Given the description of an element on the screen output the (x, y) to click on. 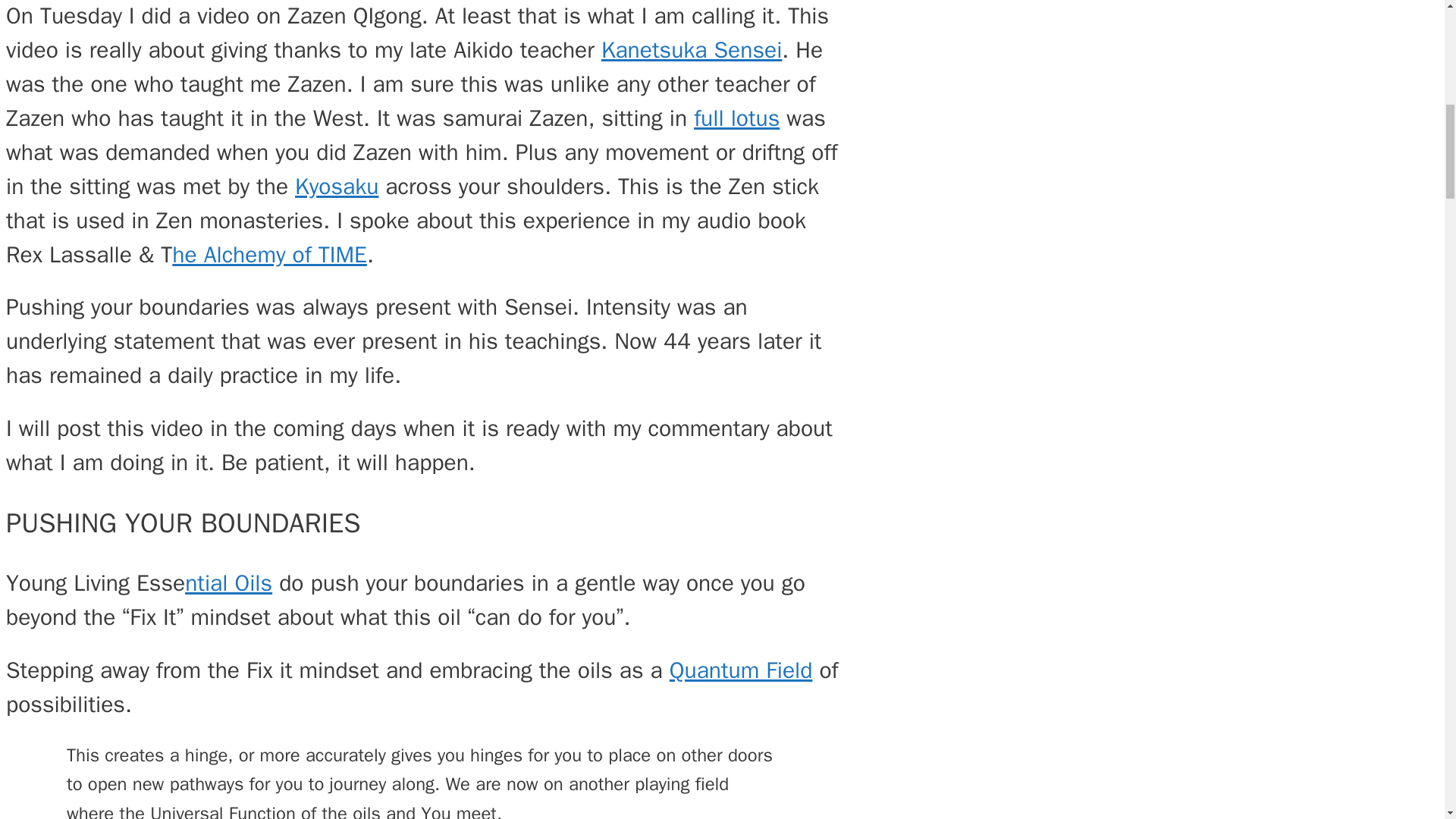
Kyosaku (336, 185)
Kanetsuka Sensei (691, 50)
ntial Oils (228, 582)
Quantum Field (740, 670)
he Alchemy of TIME (268, 254)
Scroll back to top (1406, 720)
full lotus (736, 118)
